Given the description of an element on the screen output the (x, y) to click on. 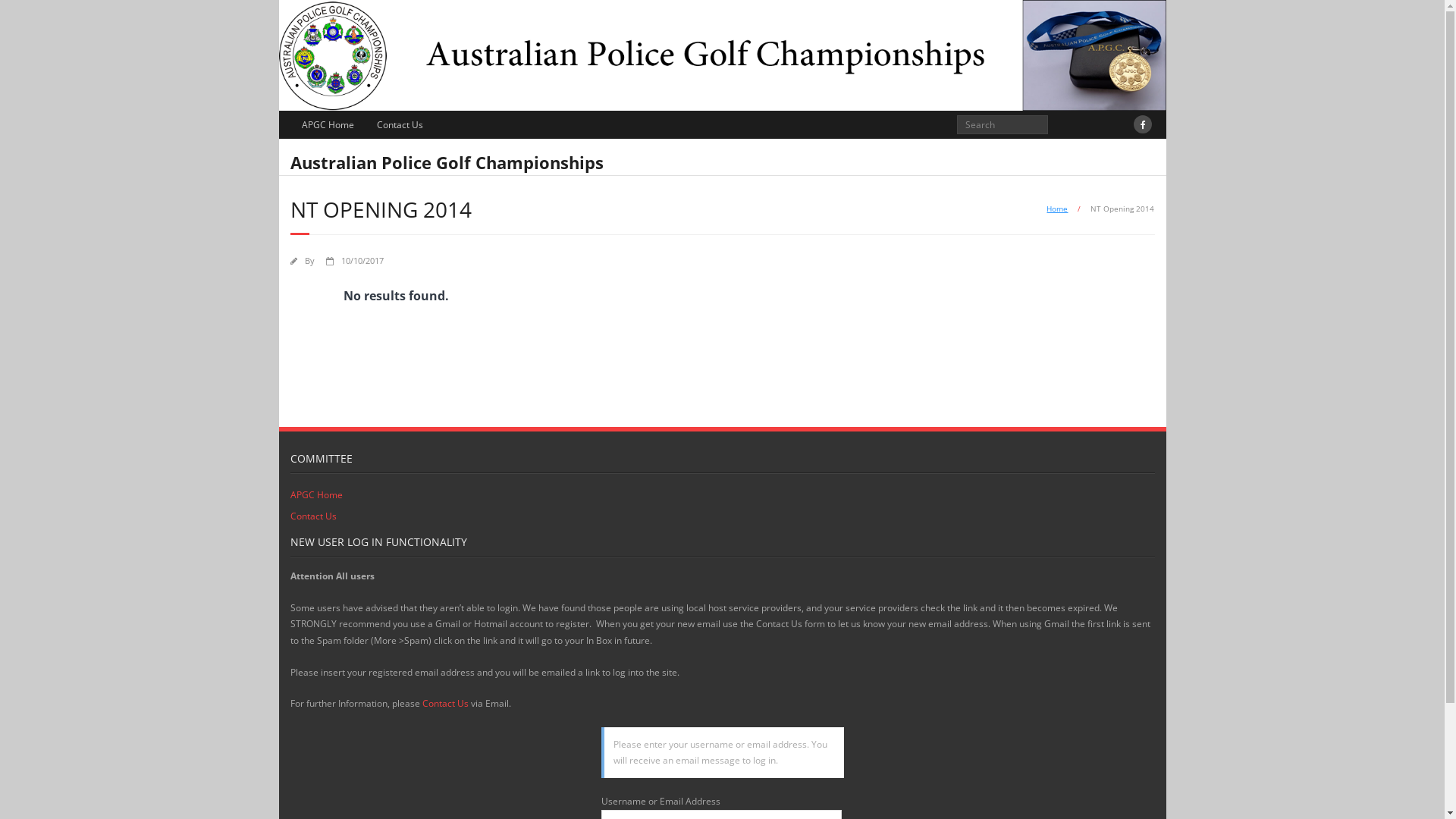
APGC Home Element type: text (315, 495)
Contact Us Element type: text (444, 702)
Contact Us Element type: text (399, 124)
APGC Home Element type: text (326, 124)
Home Element type: text (1056, 208)
Contact Us Element type: text (312, 516)
Search Element type: text (26, 14)
Australian Police Golf Championships Element type: text (445, 160)
10/10/2017 Element type: text (362, 260)
